Given the description of an element on the screen output the (x, y) to click on. 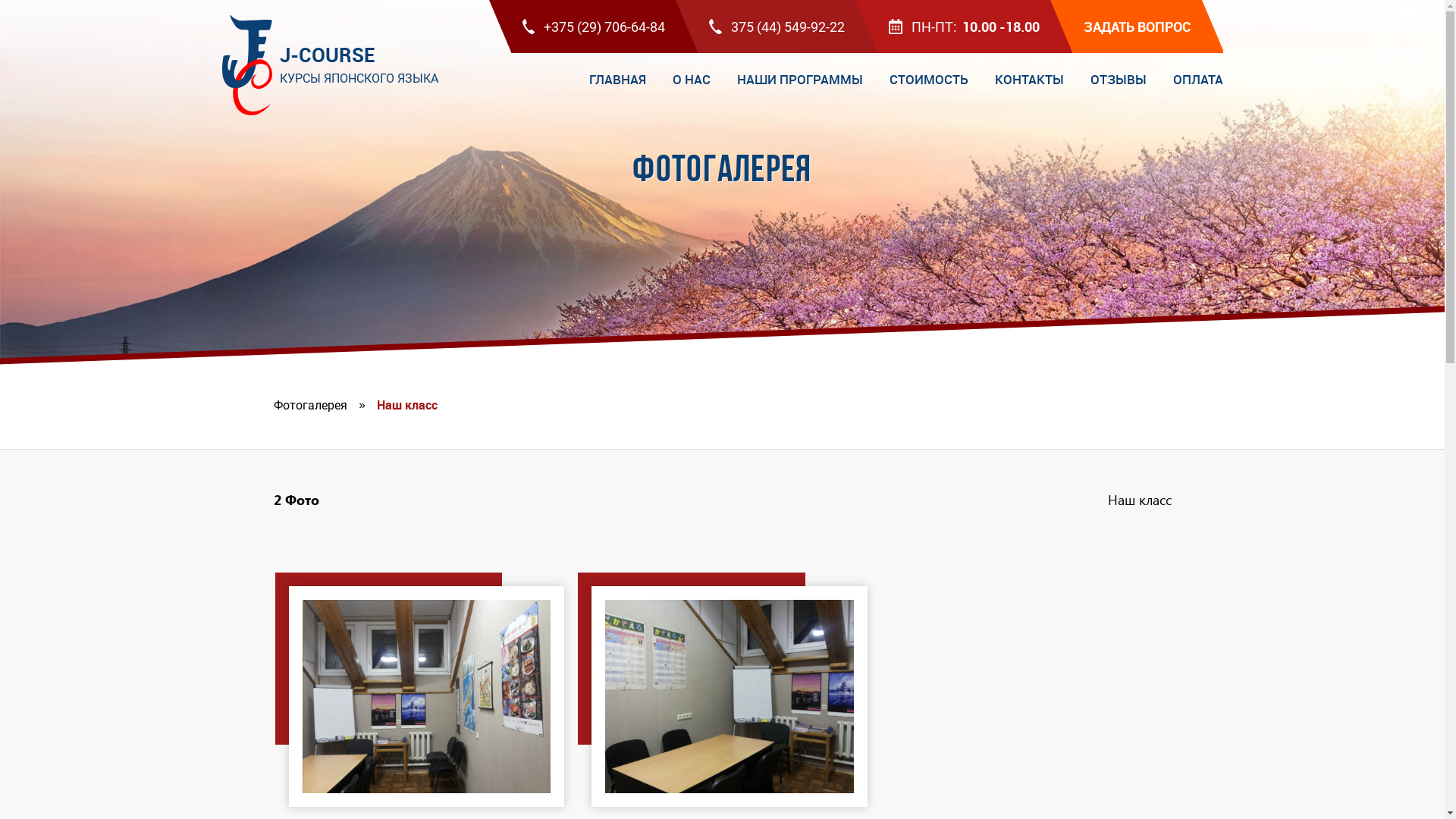
375 (44) 549-92-22 Element type: text (776, 26)
+375 (29) 706-64-84 Element type: text (594, 26)
